Given the description of an element on the screen output the (x, y) to click on. 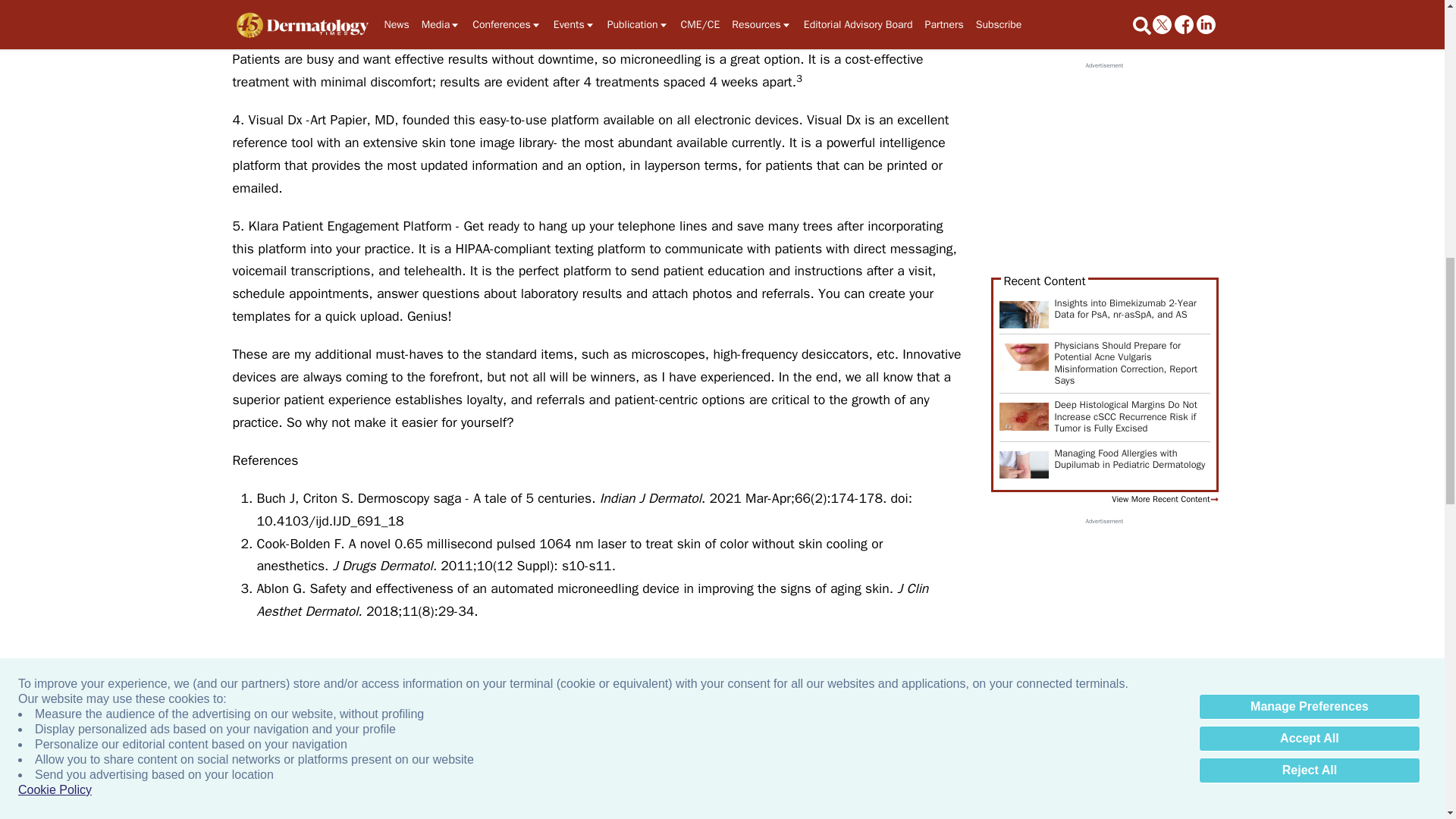
Pointers With Portela: Dermarolling  (1326, 780)
Updates on Psoriasis and Related Comorbidities  (671, 780)
Pointers With Portela: Skin Care Quiz  (343, 780)
